Given the description of an element on the screen output the (x, y) to click on. 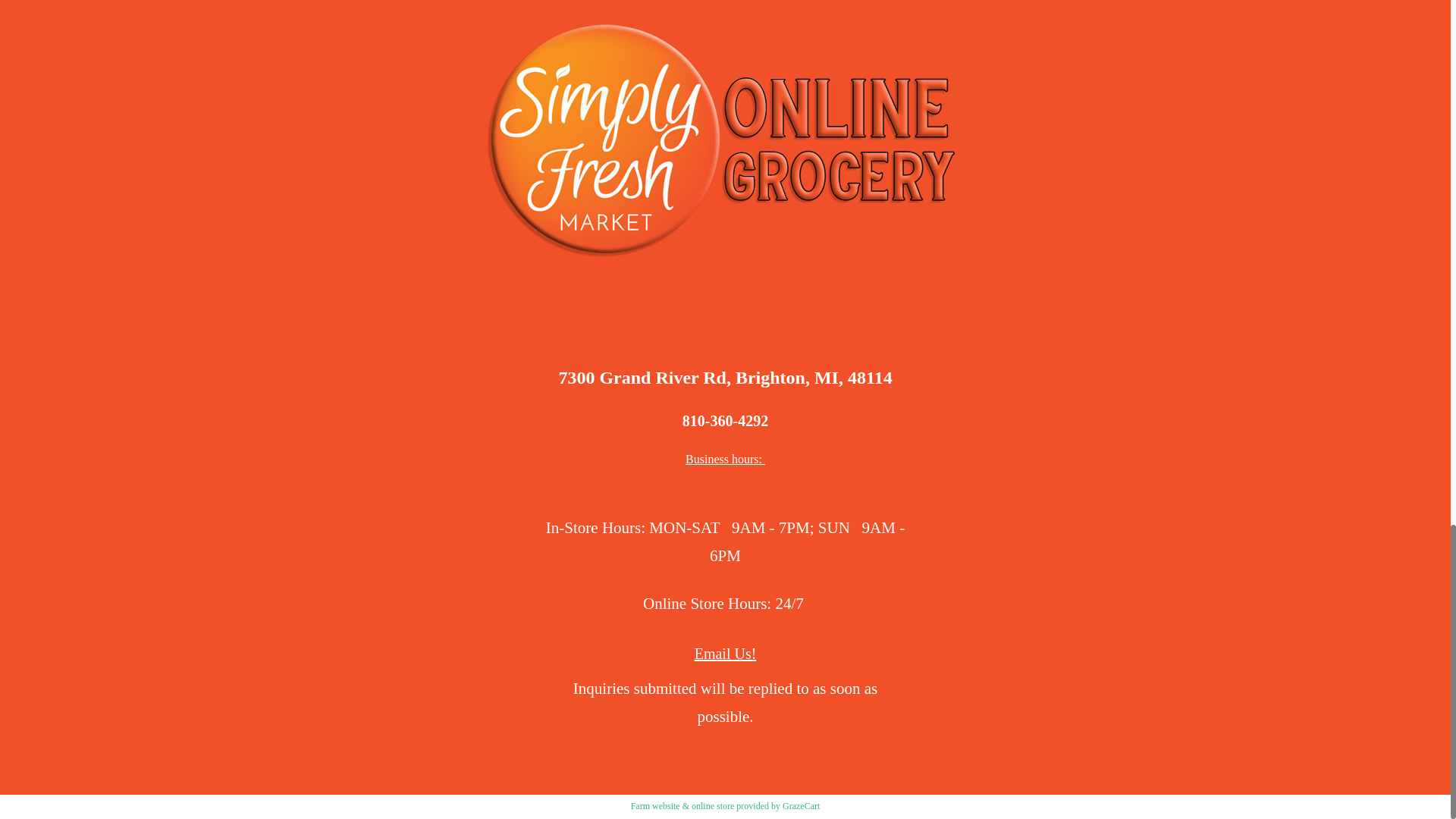
GrazeCart (801, 805)
Email Us! (725, 653)
